Given the description of an element on the screen output the (x, y) to click on. 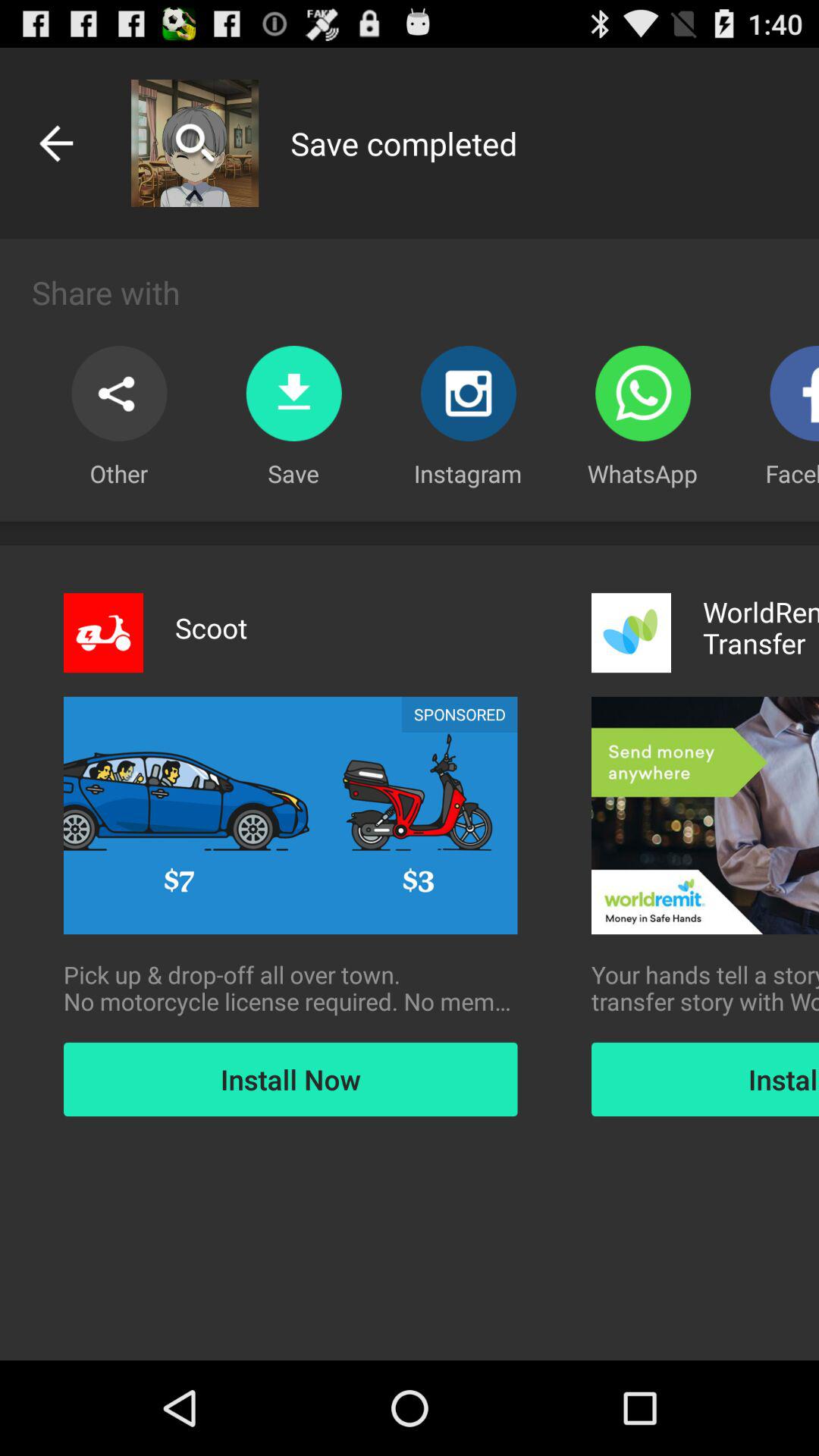
tap sponsored icon (459, 714)
